Given the description of an element on the screen output the (x, y) to click on. 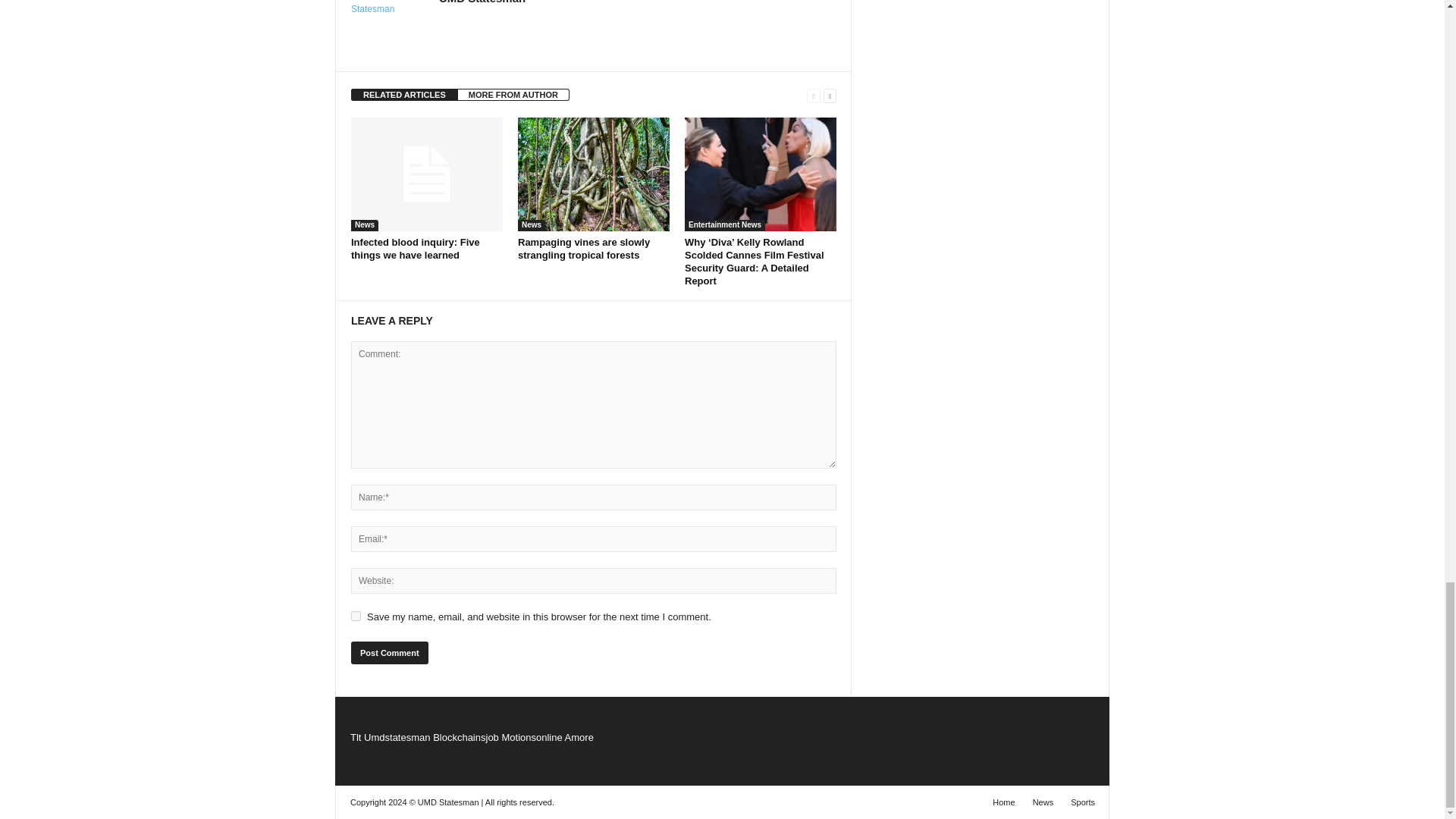
Post Comment (389, 652)
yes (355, 615)
